Given the description of an element on the screen output the (x, y) to click on. 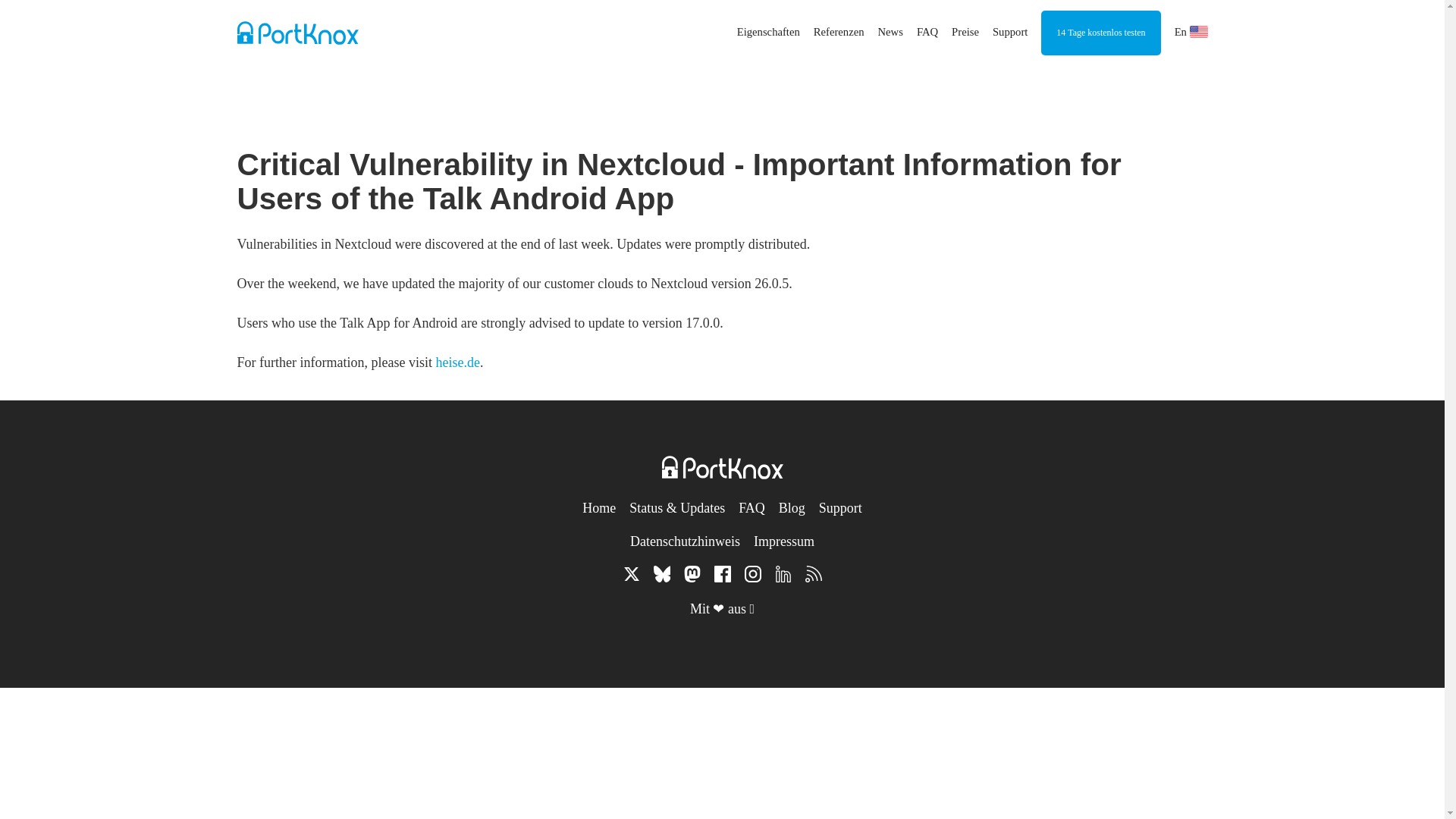
En (1191, 31)
Impressum (783, 542)
Support (1009, 31)
News (889, 31)
Home (598, 508)
Datenschutzhinweis (684, 542)
Blog (791, 508)
14 Tage kostenlos testen (1100, 32)
Support (839, 508)
FAQ (927, 31)
Eigenschaften (767, 31)
Referenzen (838, 31)
Preise (965, 31)
FAQ (751, 508)
heise.de (457, 362)
